Given the description of an element on the screen output the (x, y) to click on. 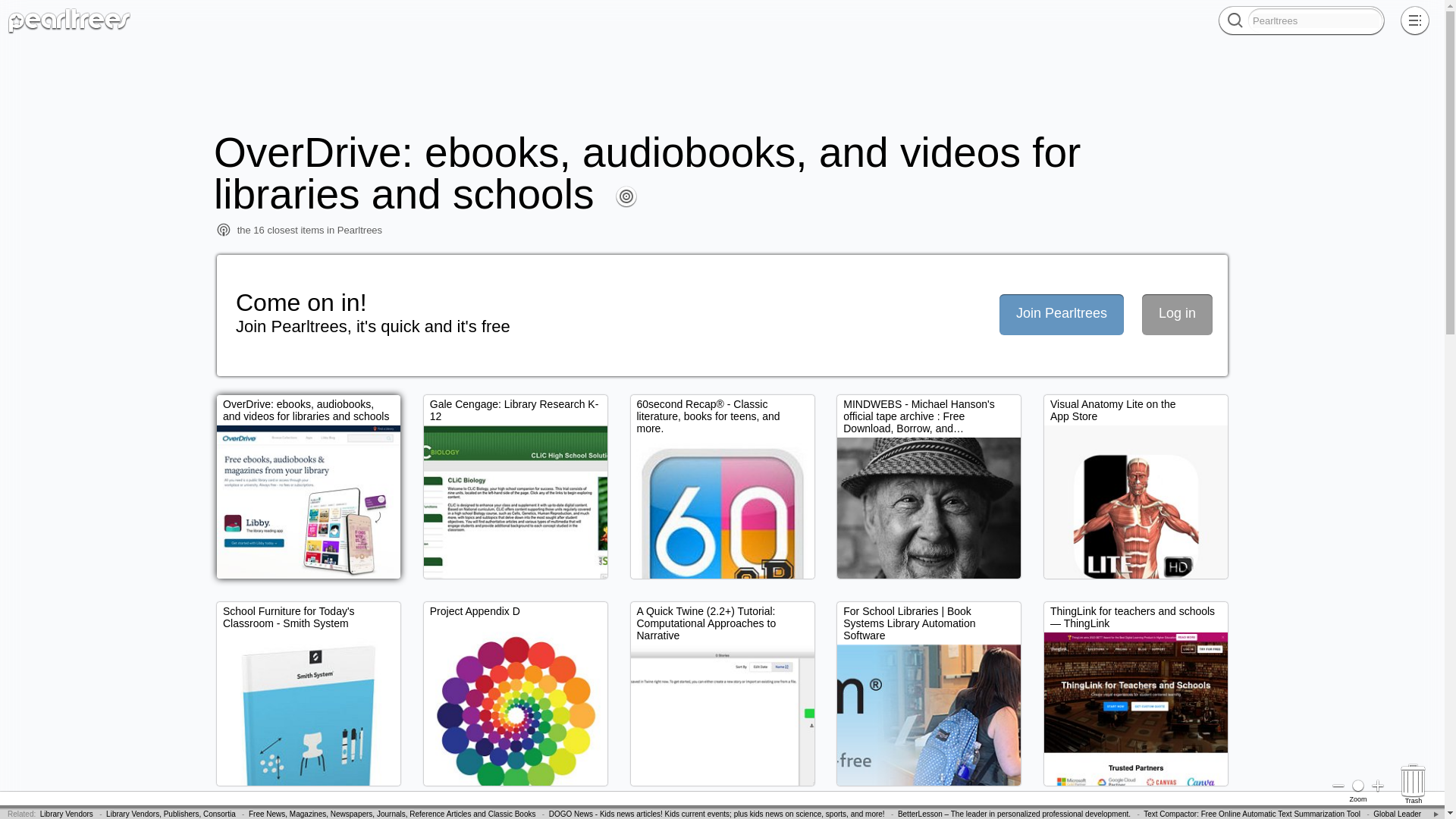
Library Vendors, Publishers, Consortia (170, 813)
Library Vendors (66, 813)
